Given the description of an element on the screen output the (x, y) to click on. 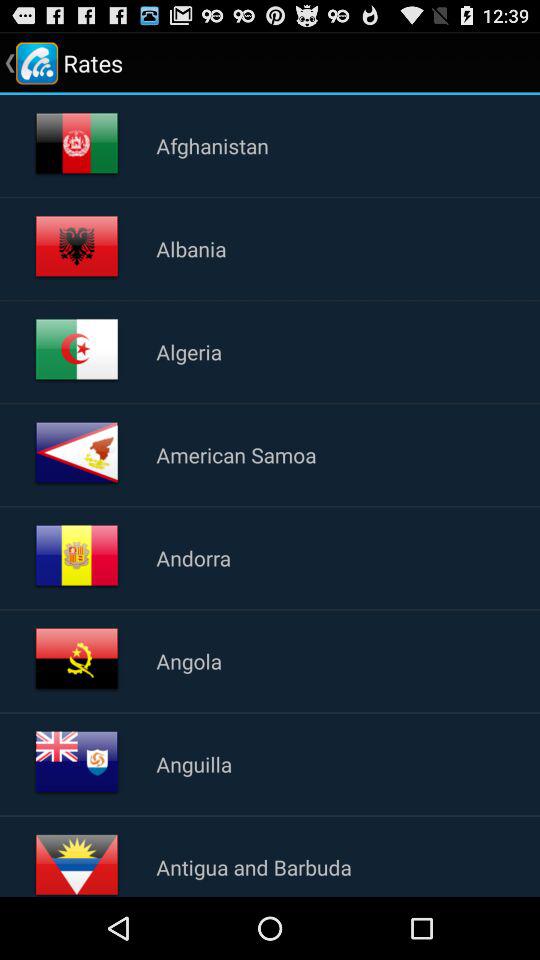
launch anguilla app (194, 764)
